Given the description of an element on the screen output the (x, y) to click on. 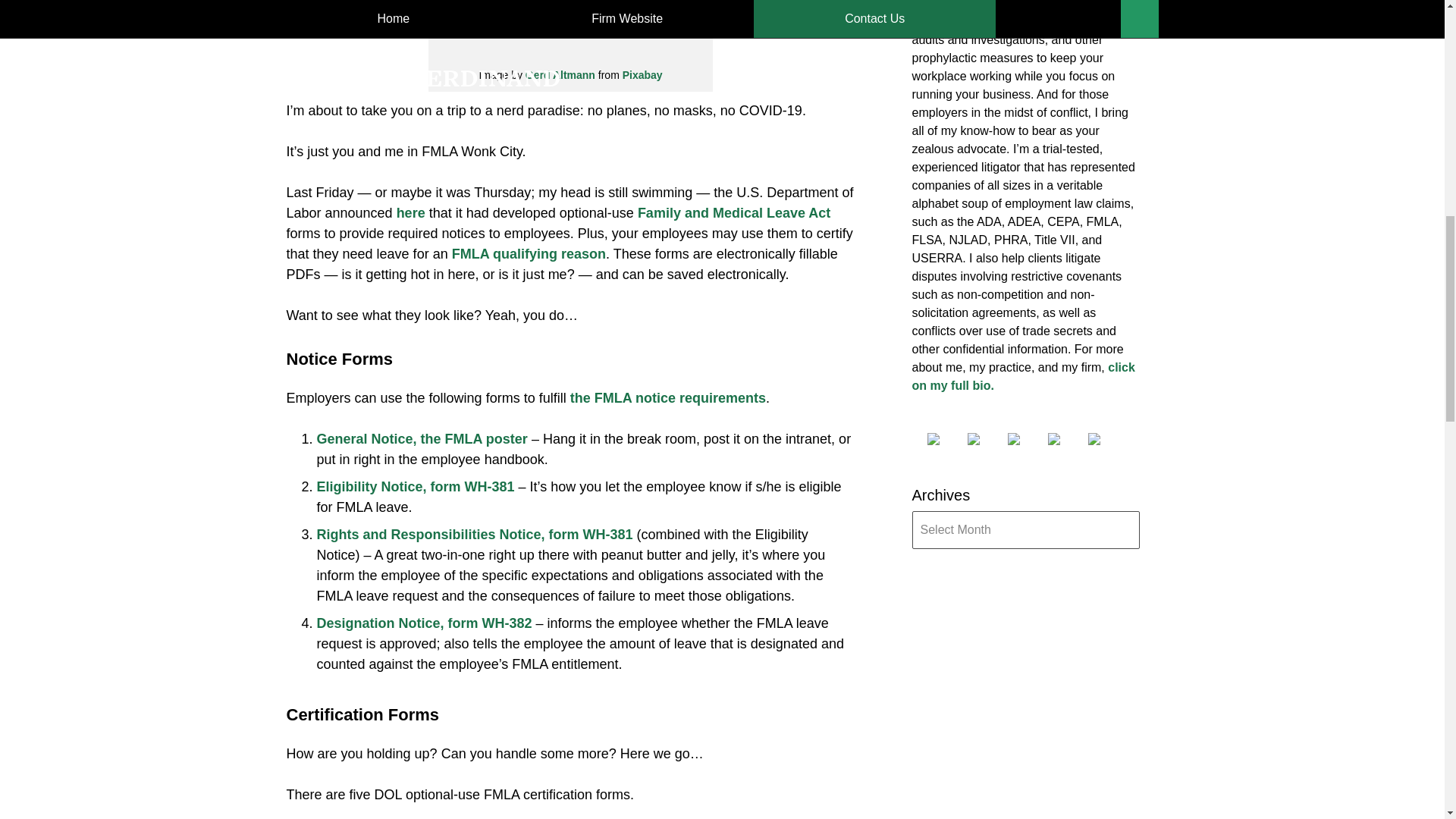
Rights and Responsibilities Notice, form WH-381 (475, 534)
Feed (1105, 439)
Twitter (986, 439)
LinkedIn (1025, 439)
the FMLA notice requirements (667, 397)
FMLA qualifying reason (528, 253)
Pixabay (642, 74)
Facebook (944, 439)
Gerd Altmann (560, 74)
General Notice, the FMLA poster (422, 438)
